Given the description of an element on the screen output the (x, y) to click on. 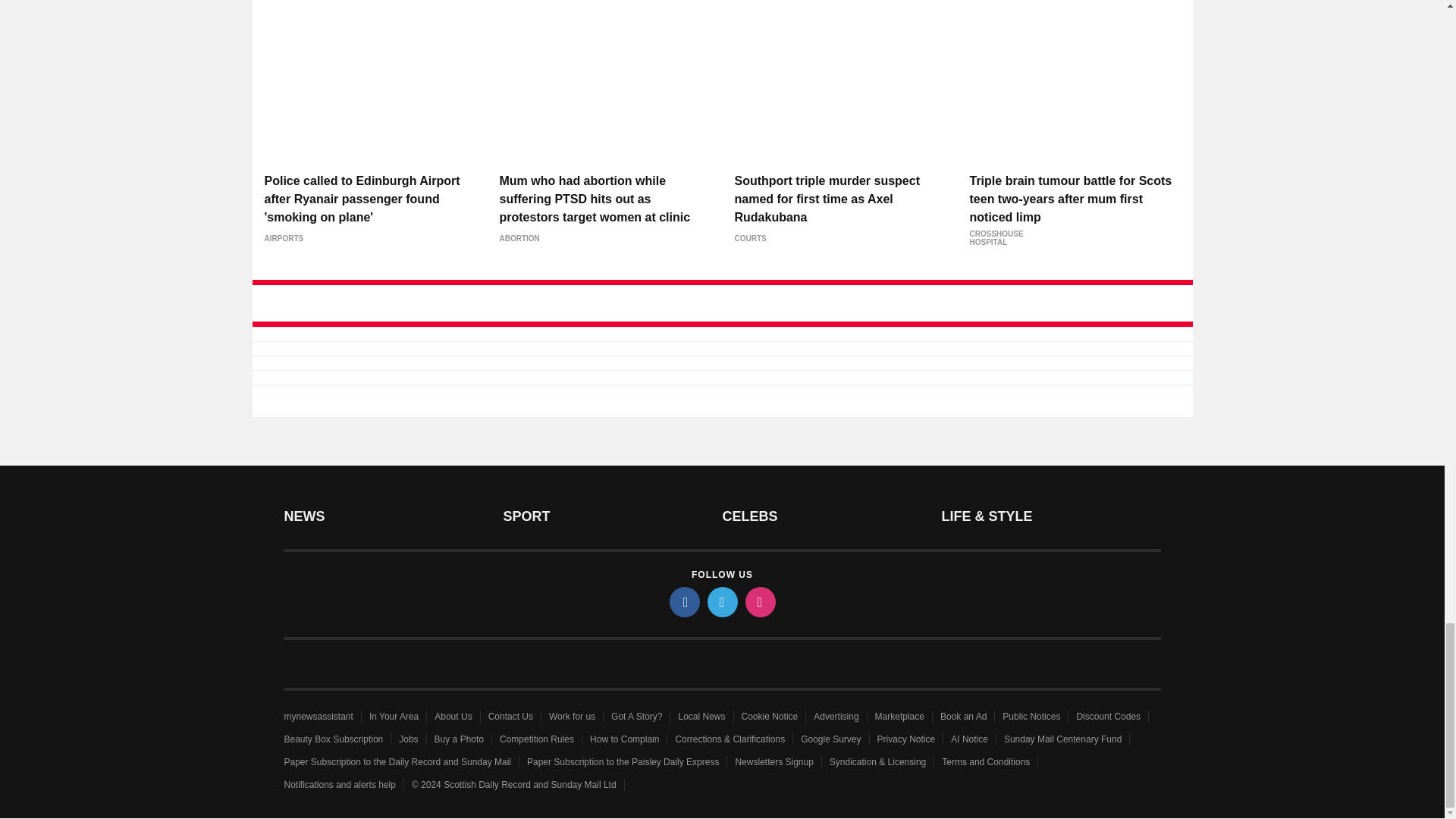
instagram (759, 602)
facebook (683, 602)
twitter (721, 602)
